Given the description of an element on the screen output the (x, y) to click on. 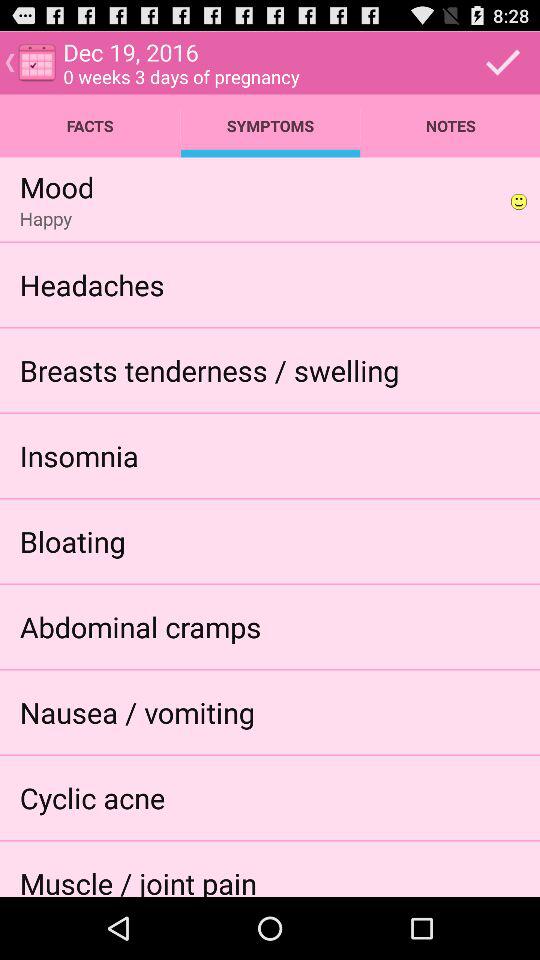
flip until the happy app (45, 218)
